Given the description of an element on the screen output the (x, y) to click on. 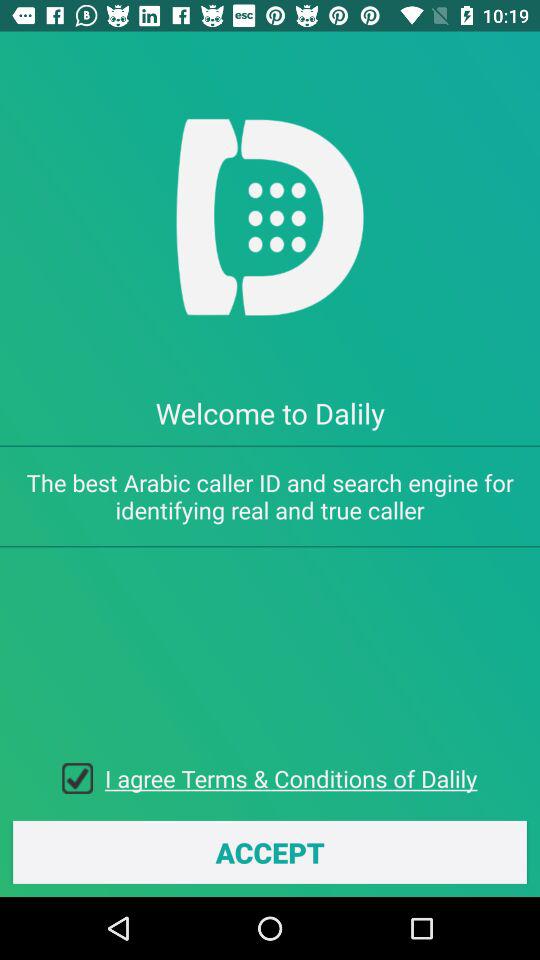
scroll until the accept (269, 851)
